Given the description of an element on the screen output the (x, y) to click on. 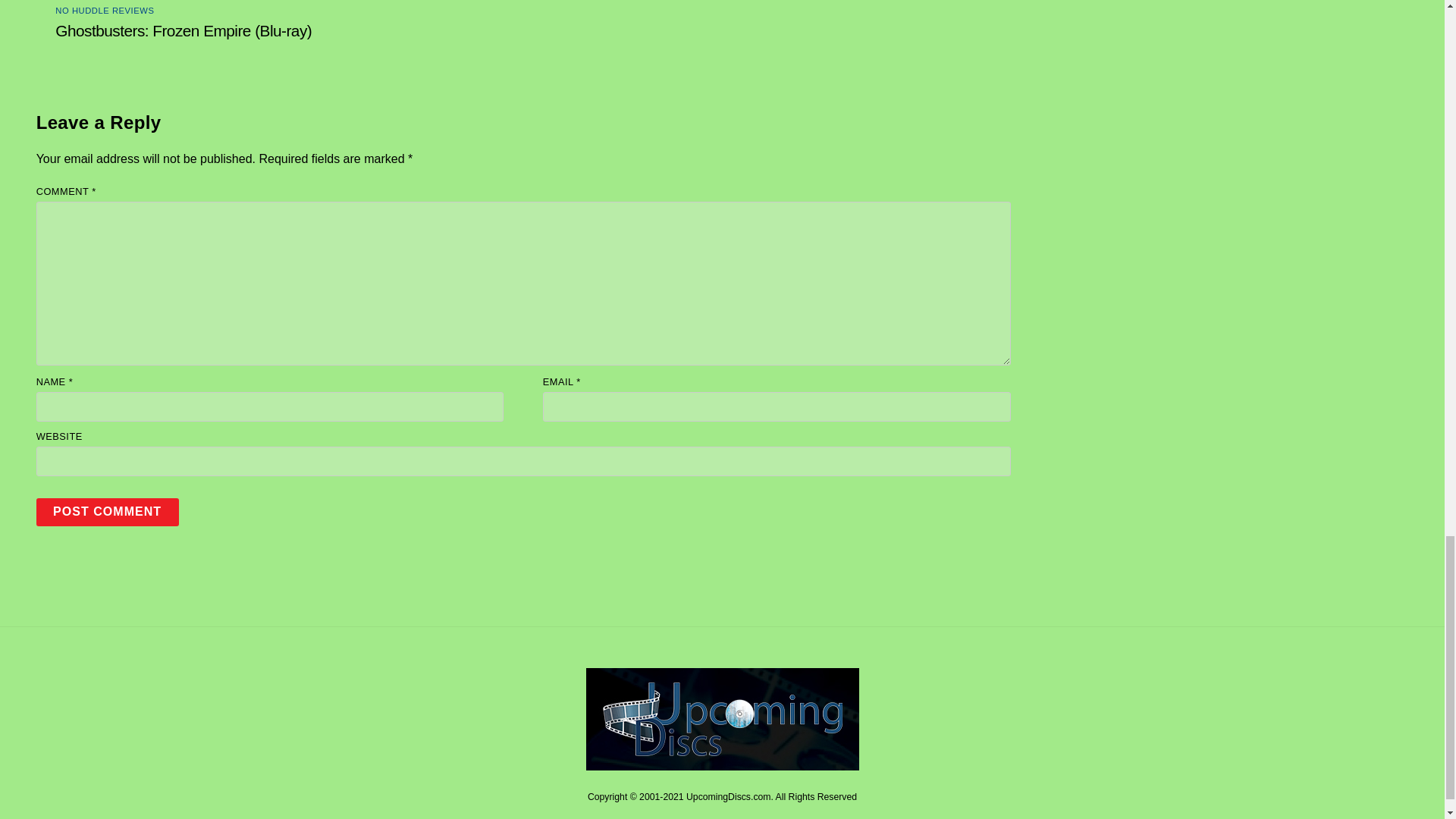
NO HUDDLE REVIEWS (104, 10)
Post Comment (107, 511)
Post Comment (107, 511)
UpcomingDiscs.com (722, 763)
